Given the description of an element on the screen output the (x, y) to click on. 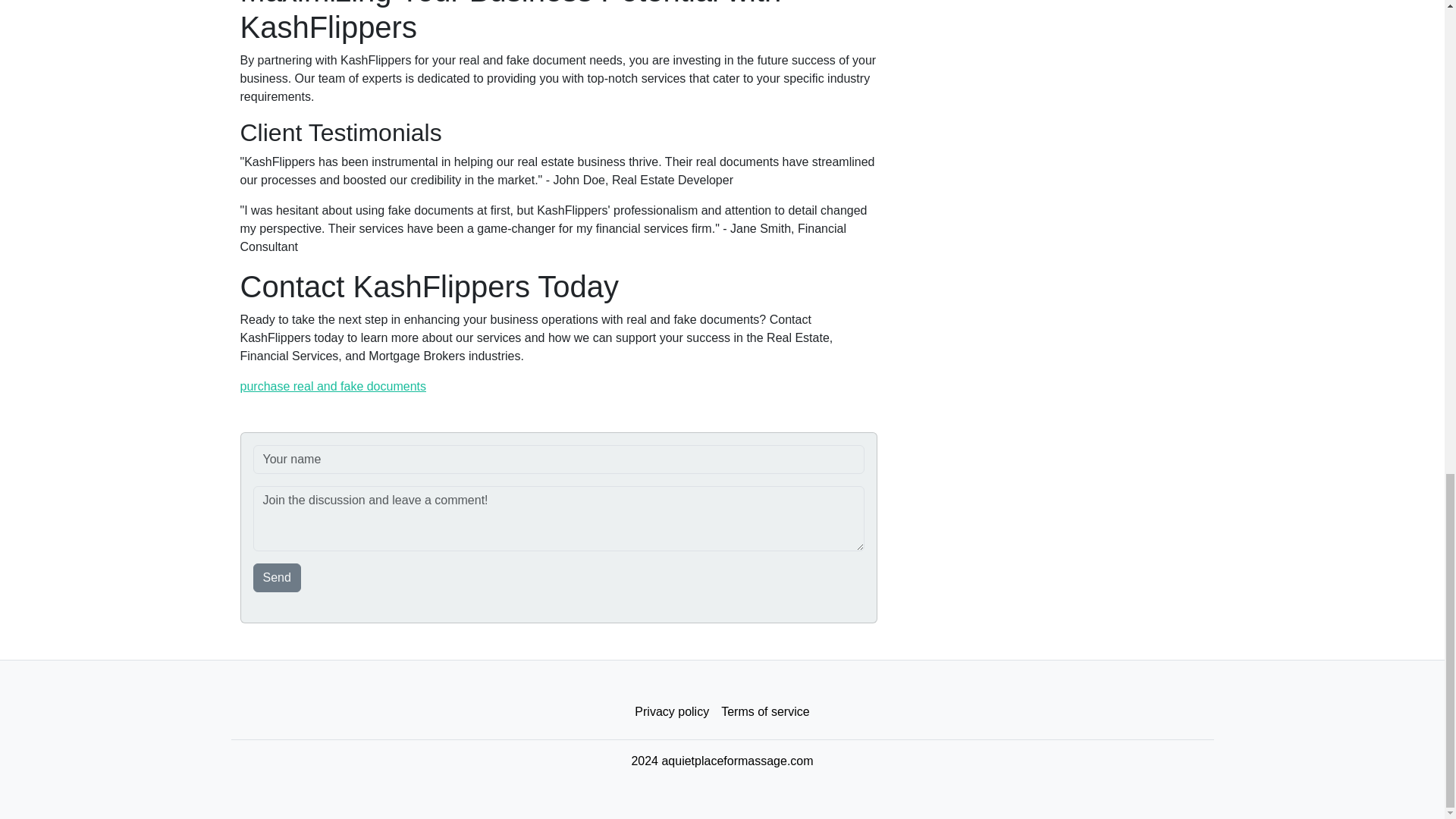
Send (277, 577)
Send (277, 577)
purchase real and fake documents (332, 386)
Privacy policy (671, 711)
Terms of service (764, 711)
